Given the description of an element on the screen output the (x, y) to click on. 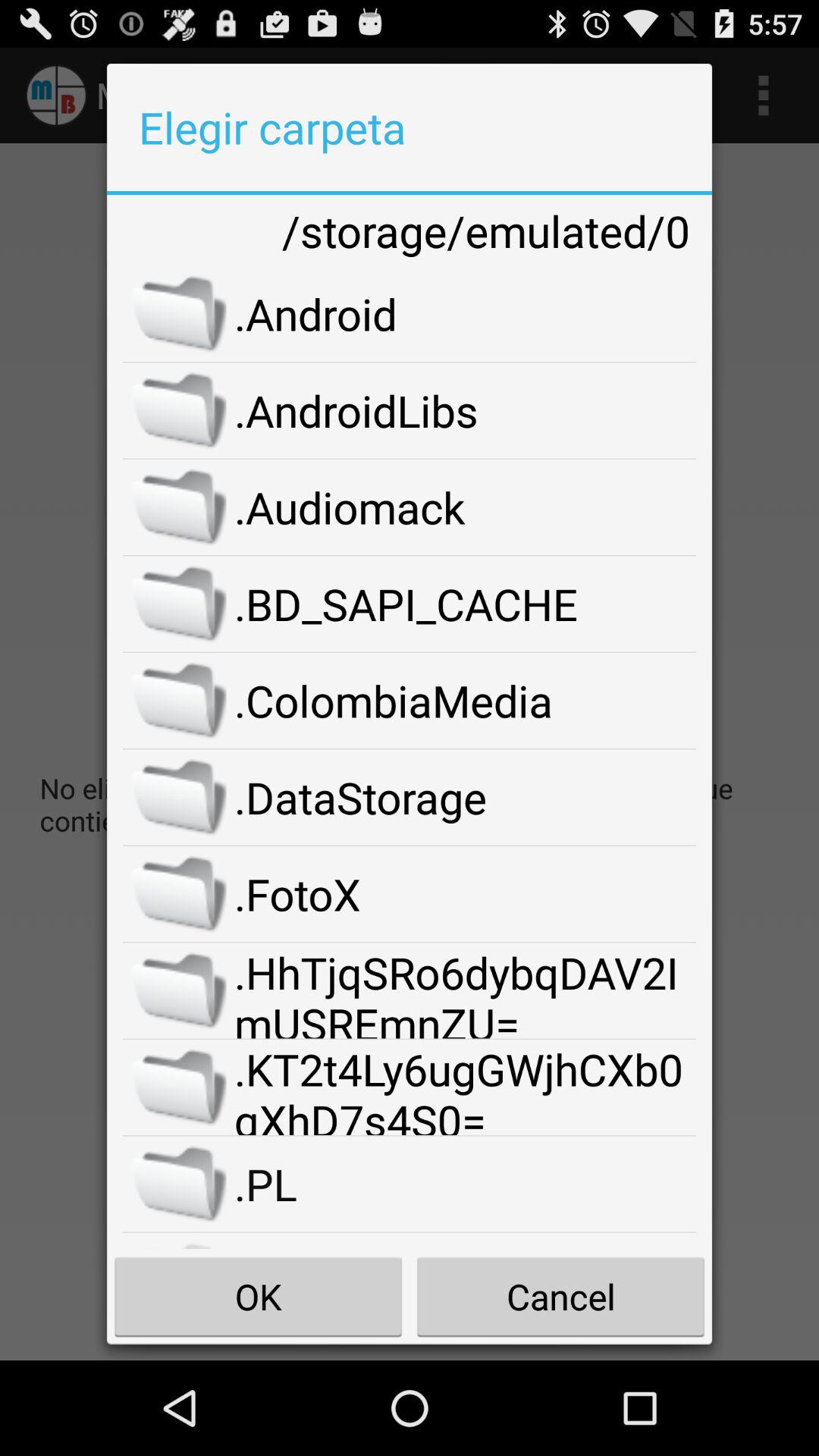
flip until the .audiomack icon (465, 507)
